Given the description of an element on the screen output the (x, y) to click on. 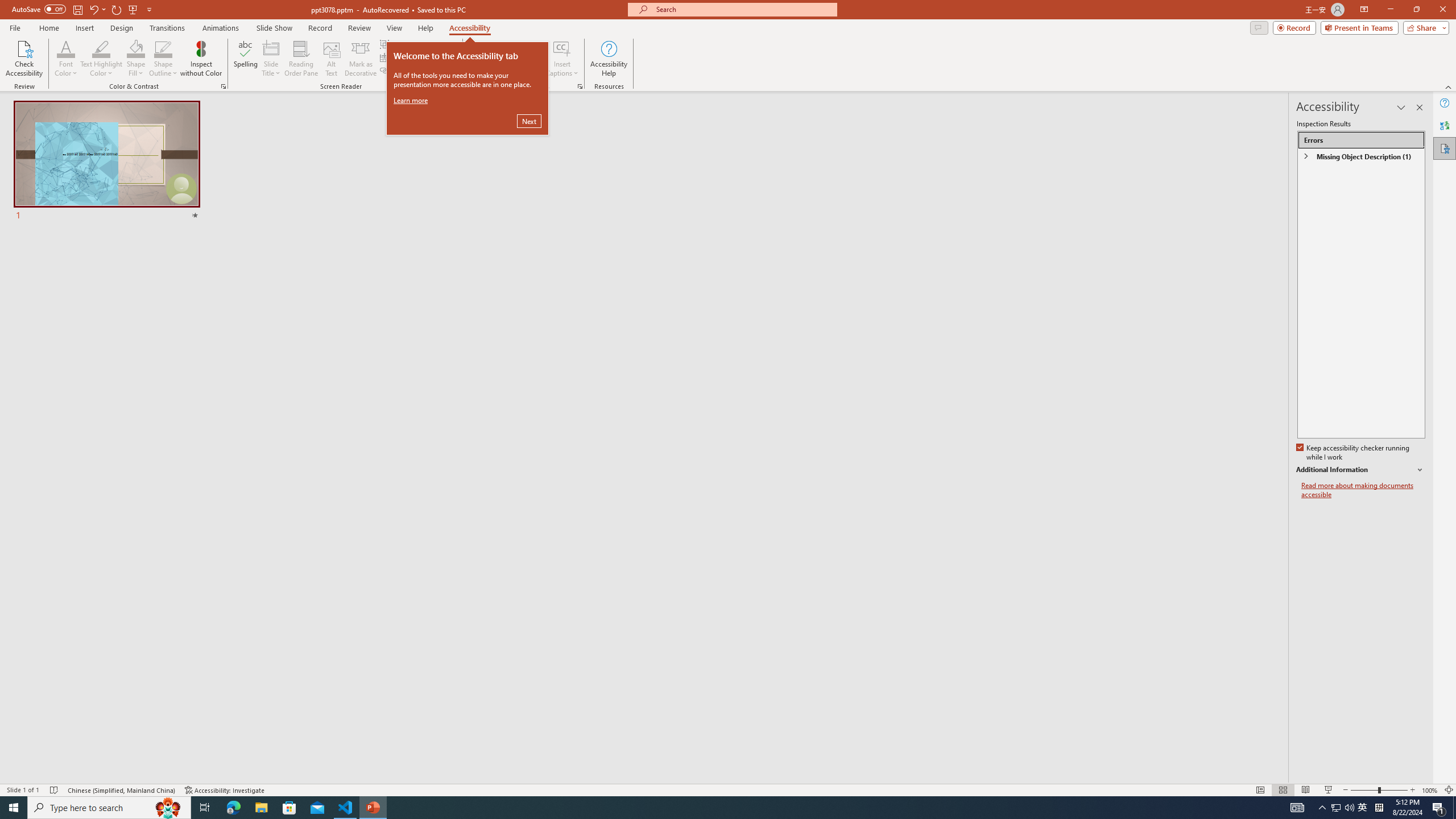
Shape Fill (135, 48)
Next (528, 120)
Insert Captions (561, 48)
Inspect without Color (201, 58)
